Given the description of an element on the screen output the (x, y) to click on. 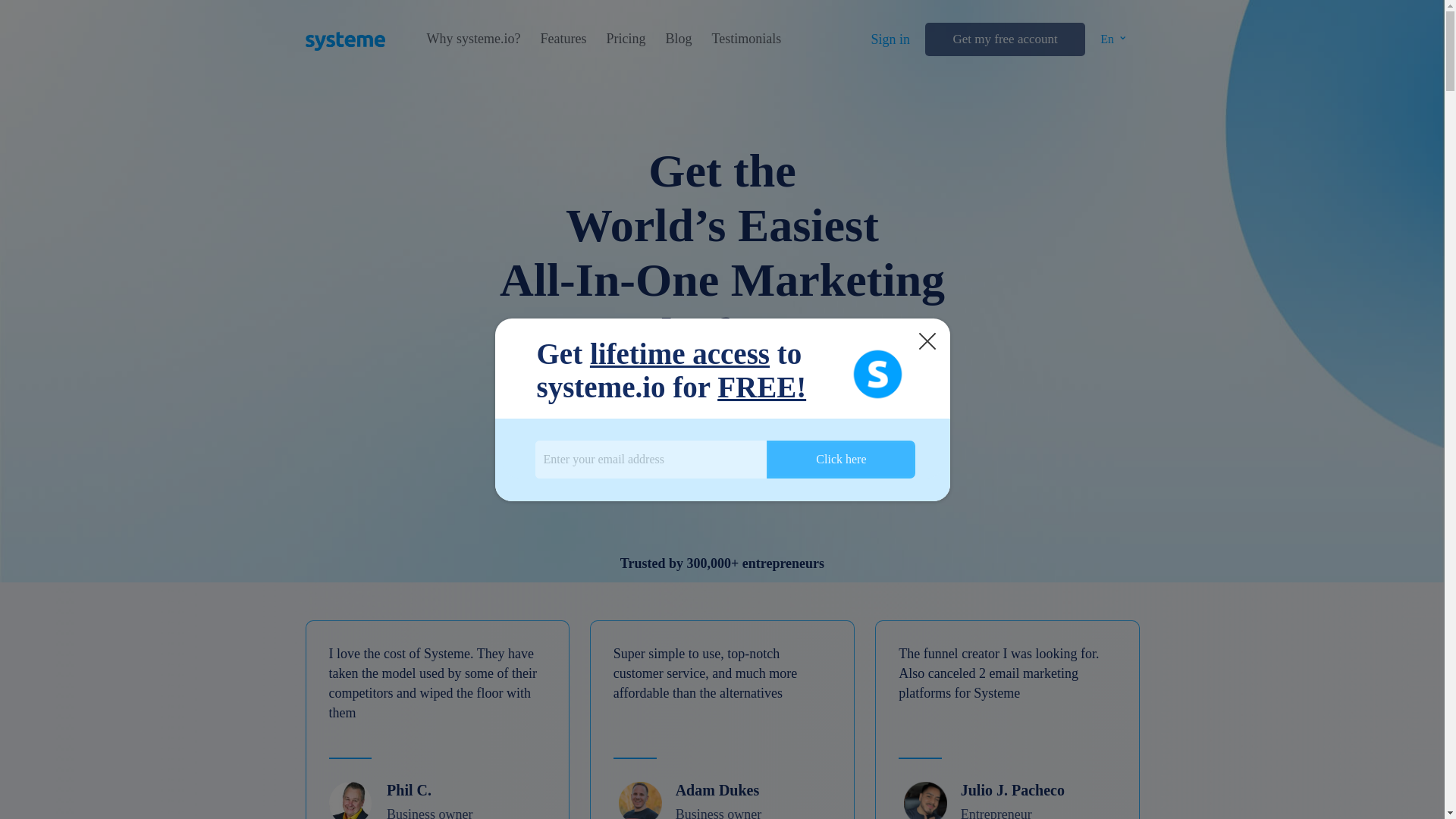
Testimonials (745, 38)
Why systeme.io? (472, 38)
Pricing (625, 38)
Blog (678, 38)
Sign in (890, 39)
Features (563, 38)
Get my free account (1004, 39)
